Given the description of an element on the screen output the (x, y) to click on. 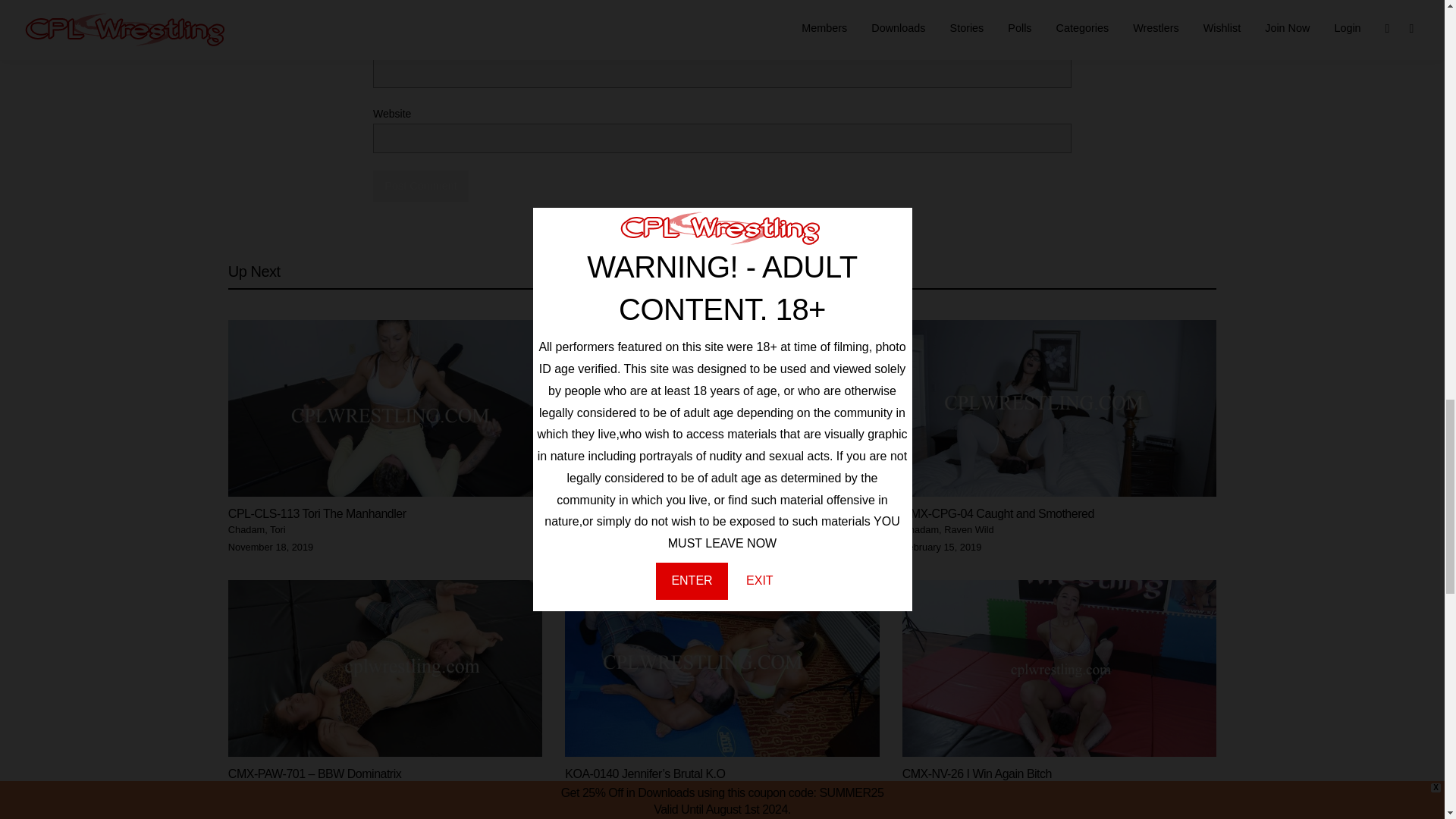
Post Comment (420, 185)
